Given the description of an element on the screen output the (x, y) to click on. 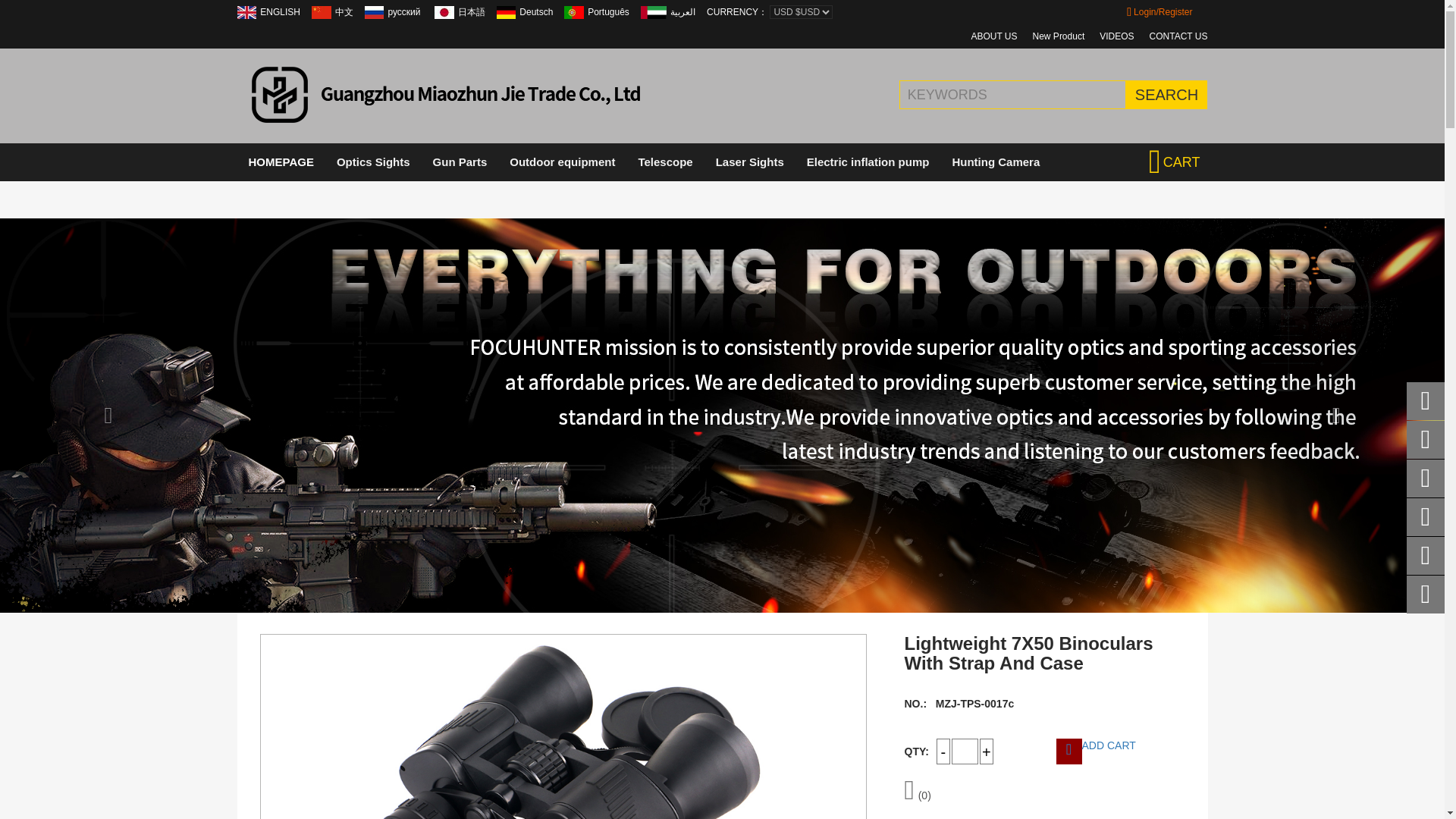
Optics Sights (373, 161)
ABOUT US (993, 36)
VIDEOS (1116, 36)
SEARCH (1166, 94)
Deutsch (536, 11)
KEYWORDS (1035, 94)
Gun Parts (460, 161)
New Product (1058, 36)
KEYWORDS (1035, 94)
HOMEPAGE (279, 161)
ENGLISH (279, 11)
Deutsch (506, 11)
ENGLISH (279, 11)
Deutsch (536, 11)
ENGLISH (245, 11)
